Given the description of an element on the screen output the (x, y) to click on. 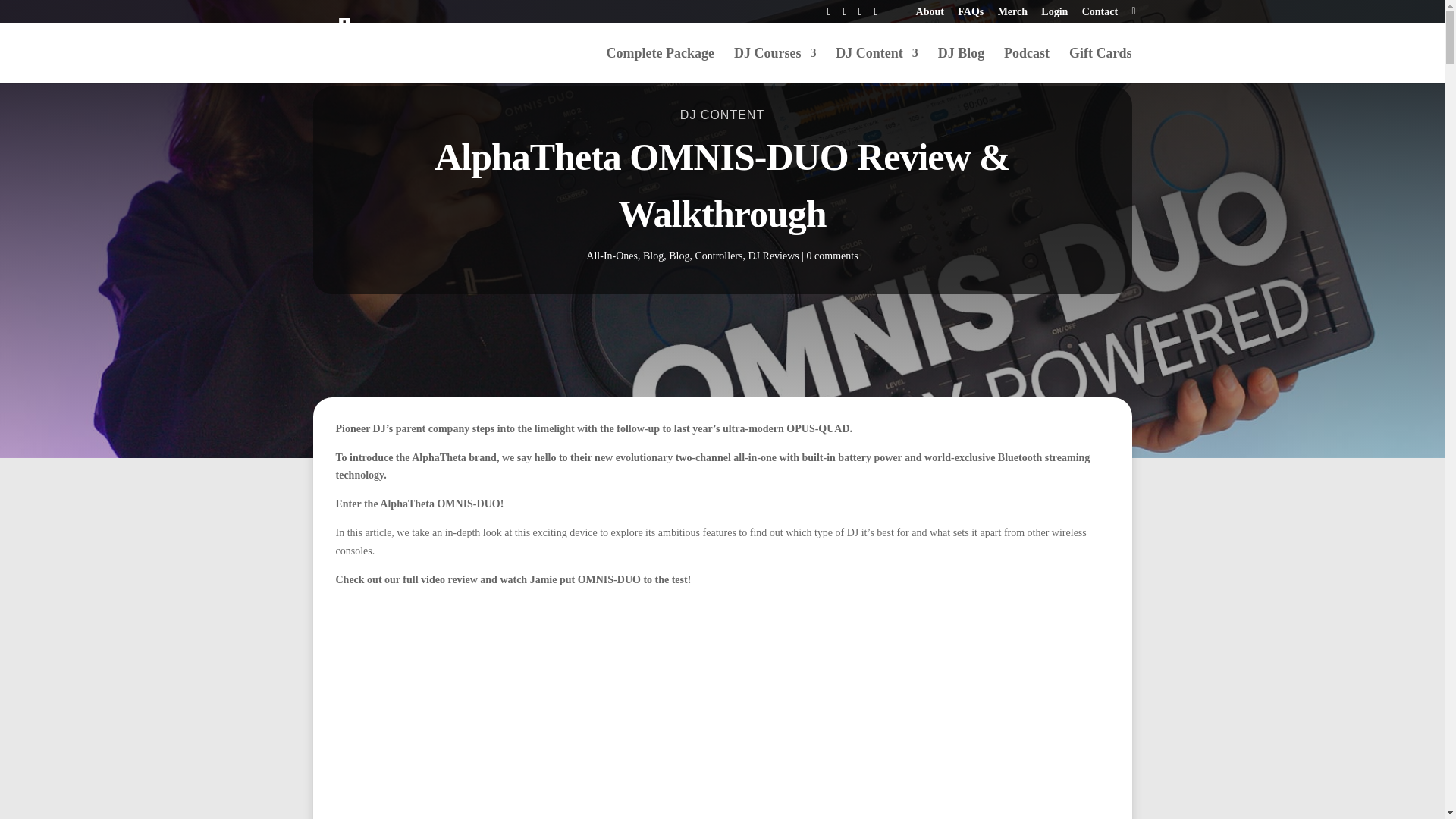
Login (1054, 16)
Merch (1012, 16)
About (929, 16)
FAQs (971, 16)
DJ Courses (774, 65)
DJ Content (876, 65)
Complete Package (660, 65)
Contact (1099, 16)
